Given the description of an element on the screen output the (x, y) to click on. 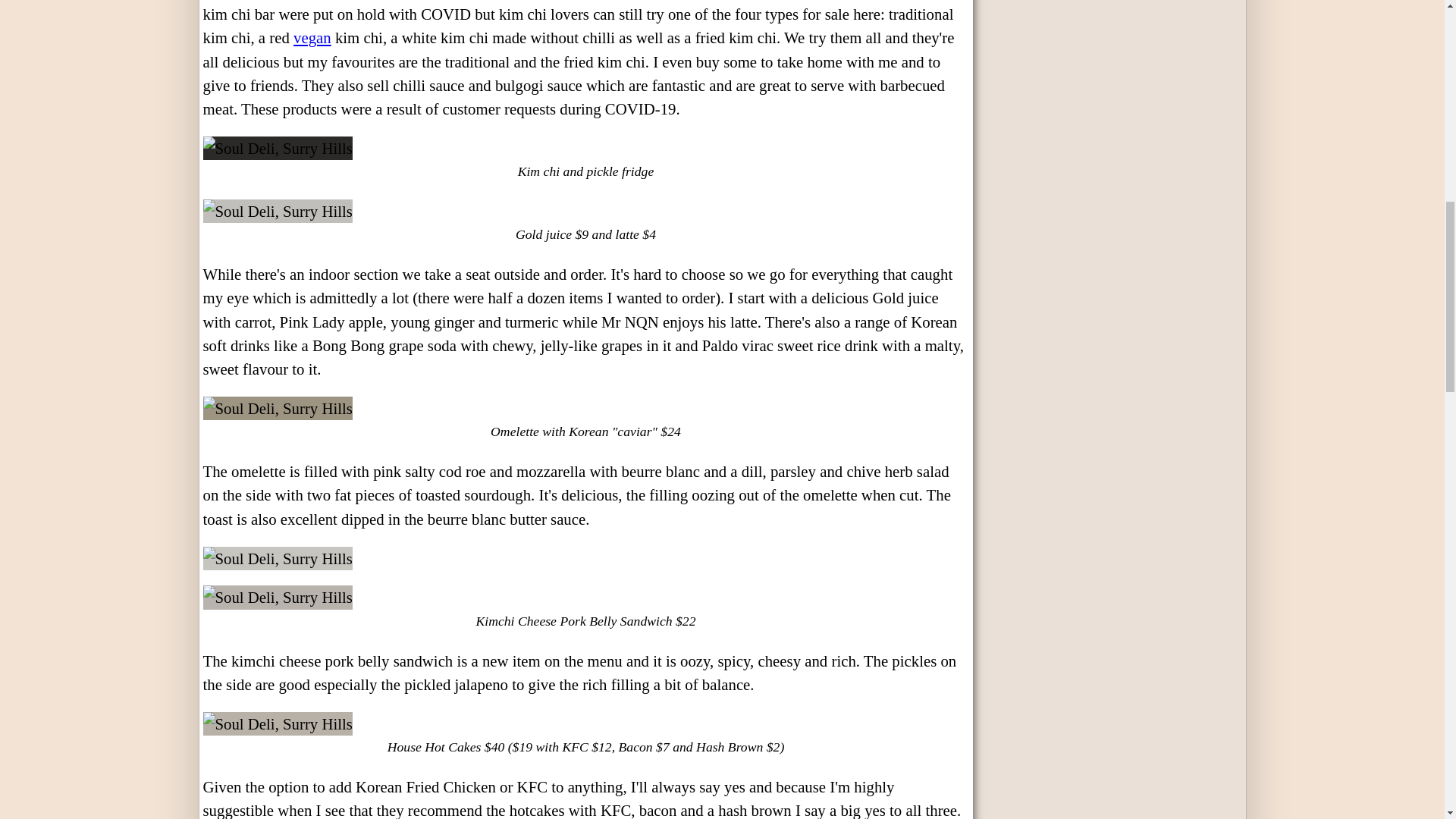
vegan (312, 36)
